Given the description of an element on the screen output the (x, y) to click on. 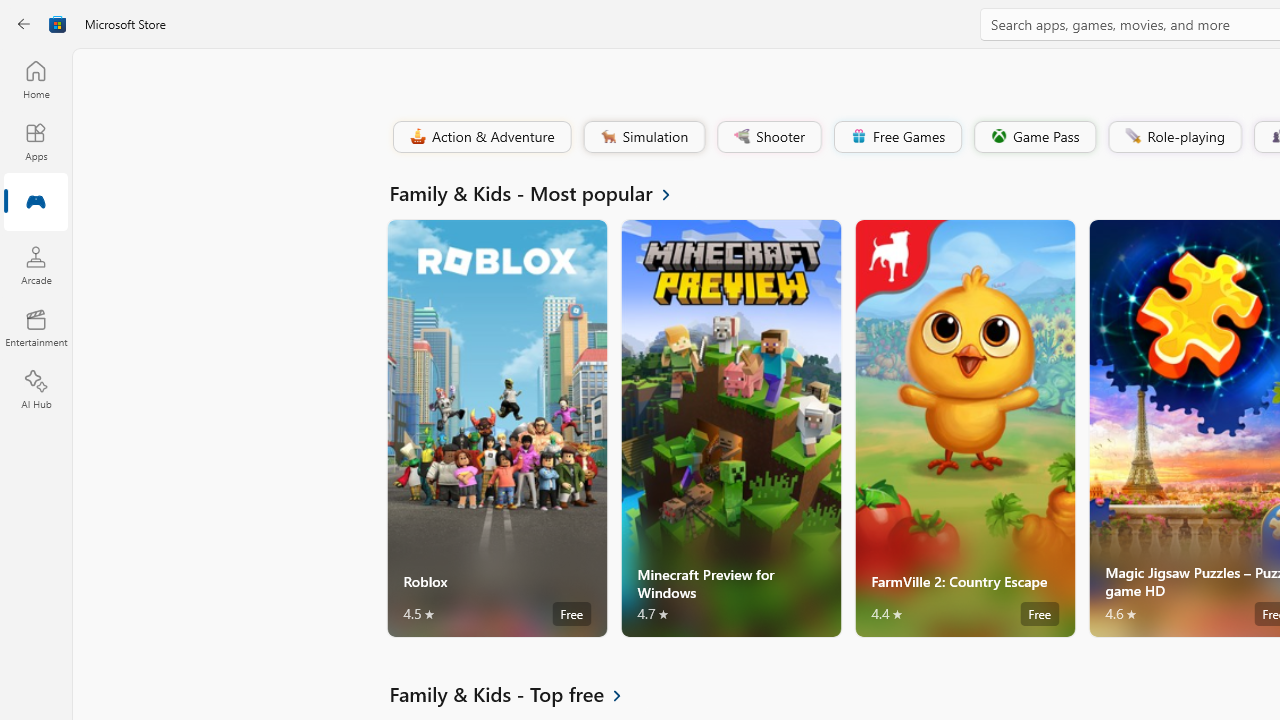
Roblox. Average rating of 4.5 out of five stars. Free   (497, 427)
Role-playing (1174, 136)
Simulation (643, 136)
